Given the description of an element on the screen output the (x, y) to click on. 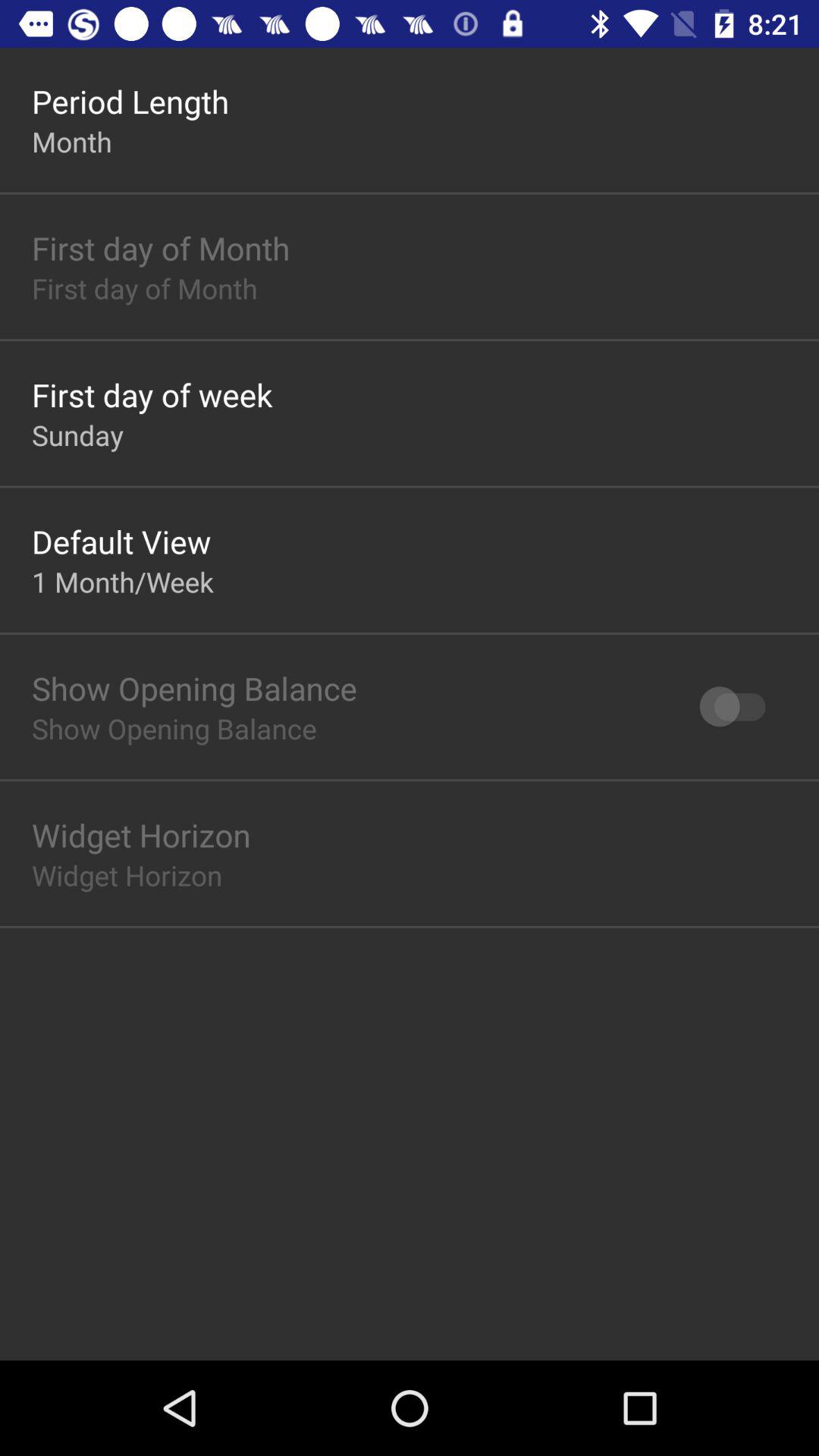
click icon below first day of app (77, 434)
